Given the description of an element on the screen output the (x, y) to click on. 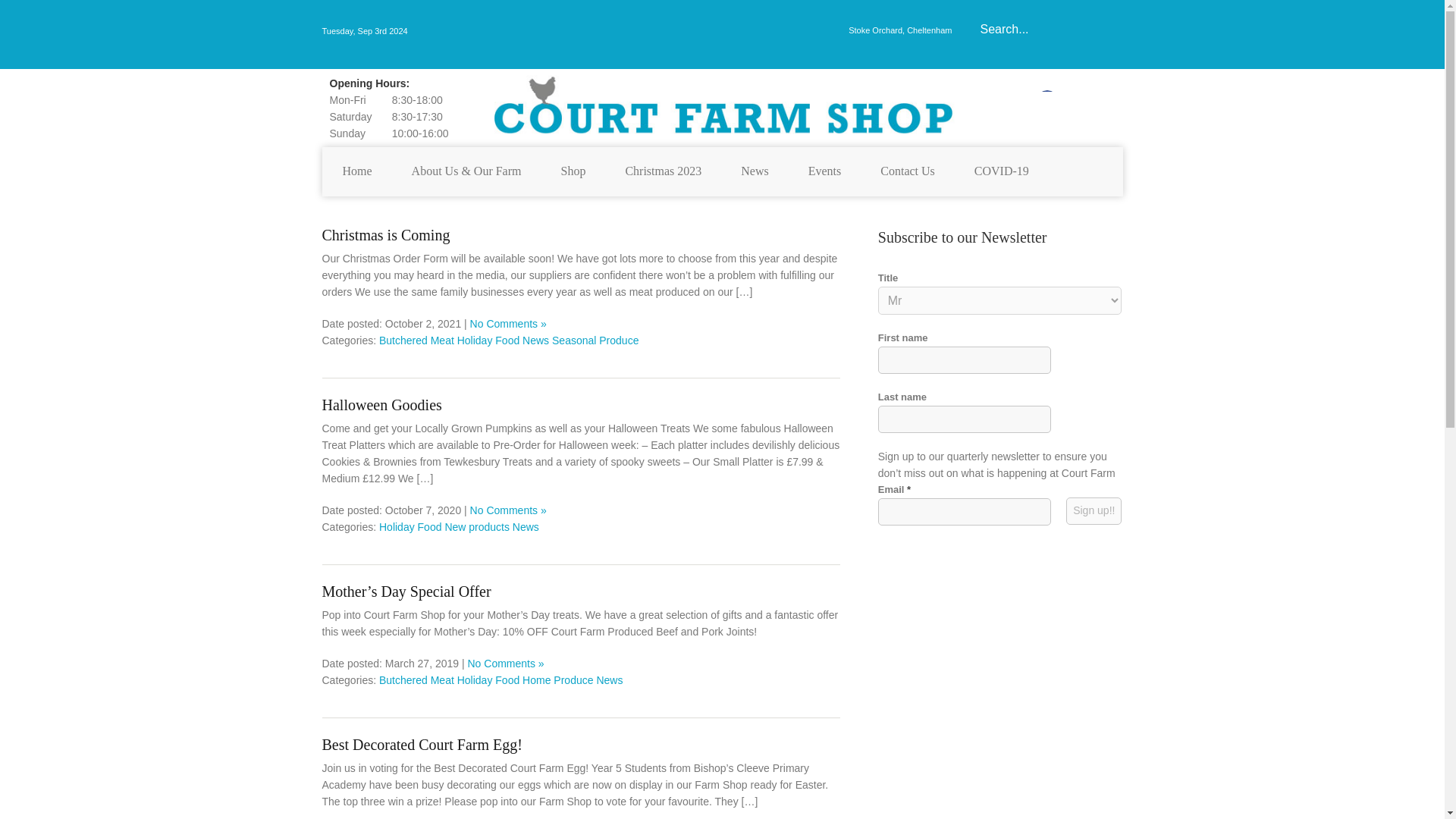
Holiday Food (410, 526)
News (525, 526)
Home Produce (557, 680)
Events (823, 171)
Search... (1035, 30)
Butchered Meat (416, 680)
Best Decorated Court Farm Egg! (580, 744)
Sign up!! (1093, 510)
Email (964, 511)
News (753, 171)
